Given the description of an element on the screen output the (x, y) to click on. 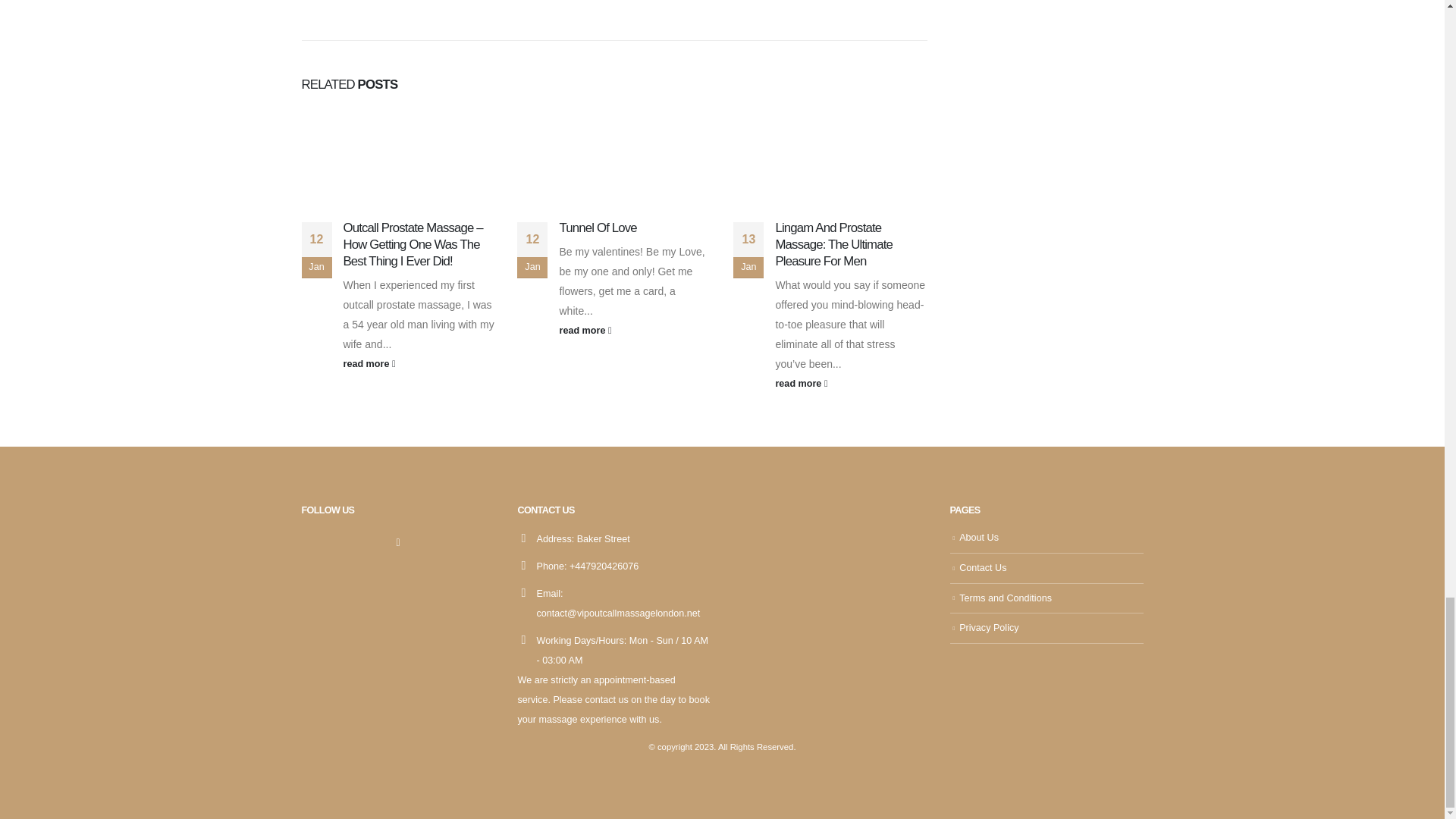
Twitter (398, 541)
